Given the description of an element on the screen output the (x, y) to click on. 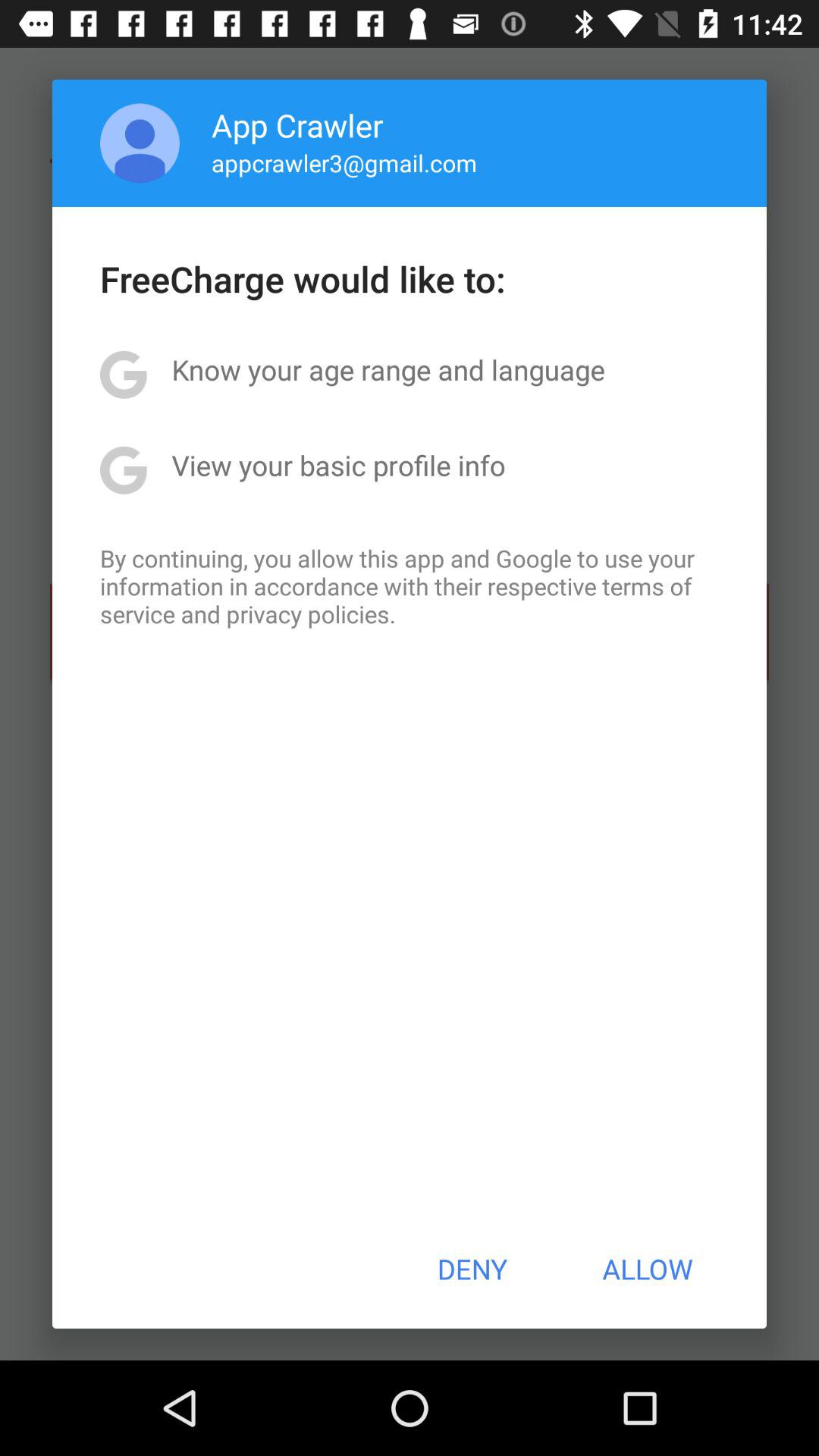
choose the item above appcrawler3@gmail.com app (297, 124)
